Given the description of an element on the screen output the (x, y) to click on. 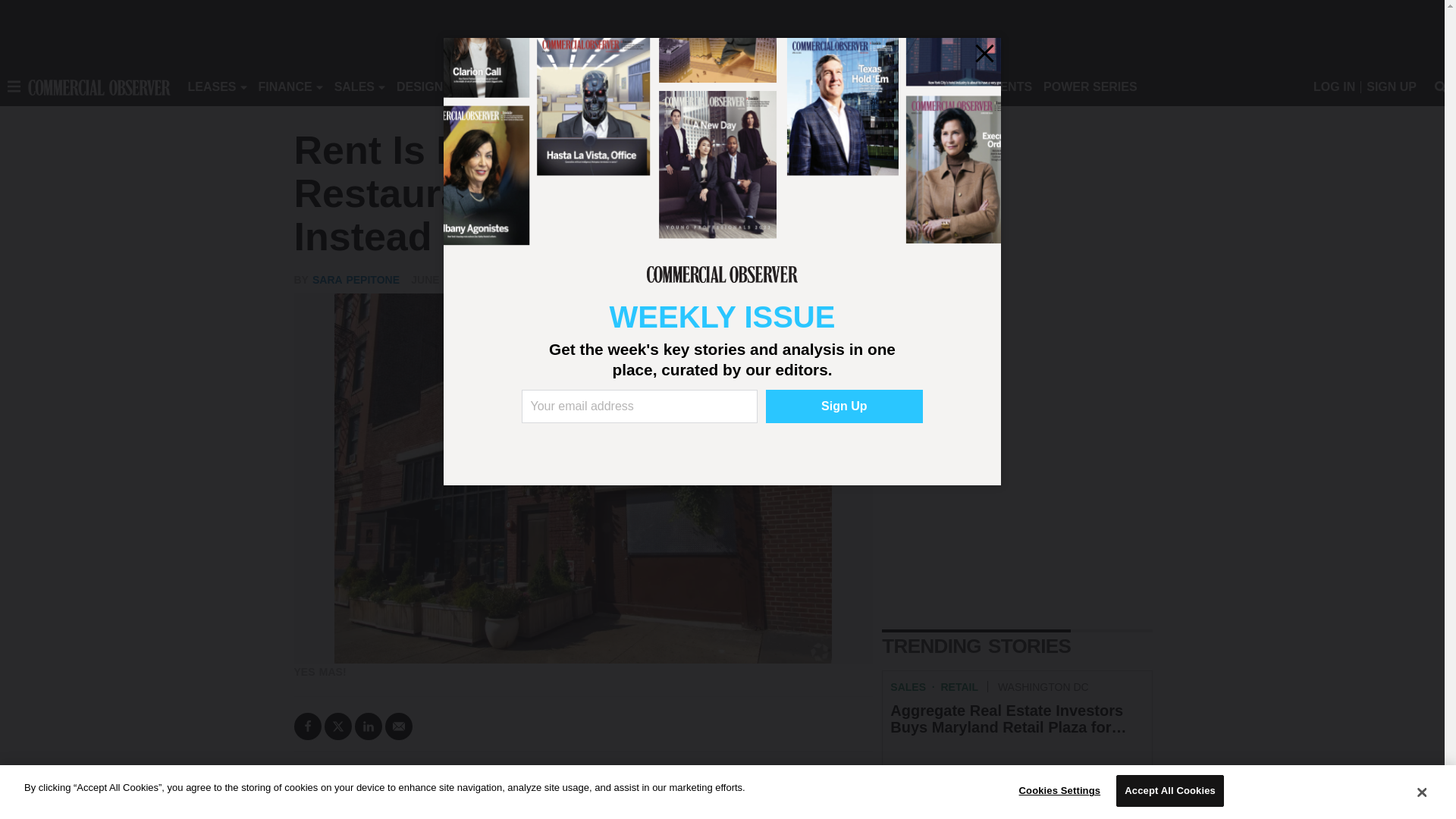
Posts by Sara Pepitone (355, 279)
SALES (354, 86)
TECHNOLOGY (619, 86)
Commercial Observer Home (98, 86)
Share on LinkedIn (368, 726)
LEASES (211, 86)
Tweet (338, 726)
Send email (398, 726)
FINANCE (286, 86)
MORE (691, 86)
Share on Facebook (307, 726)
